Given the description of an element on the screen output the (x, y) to click on. 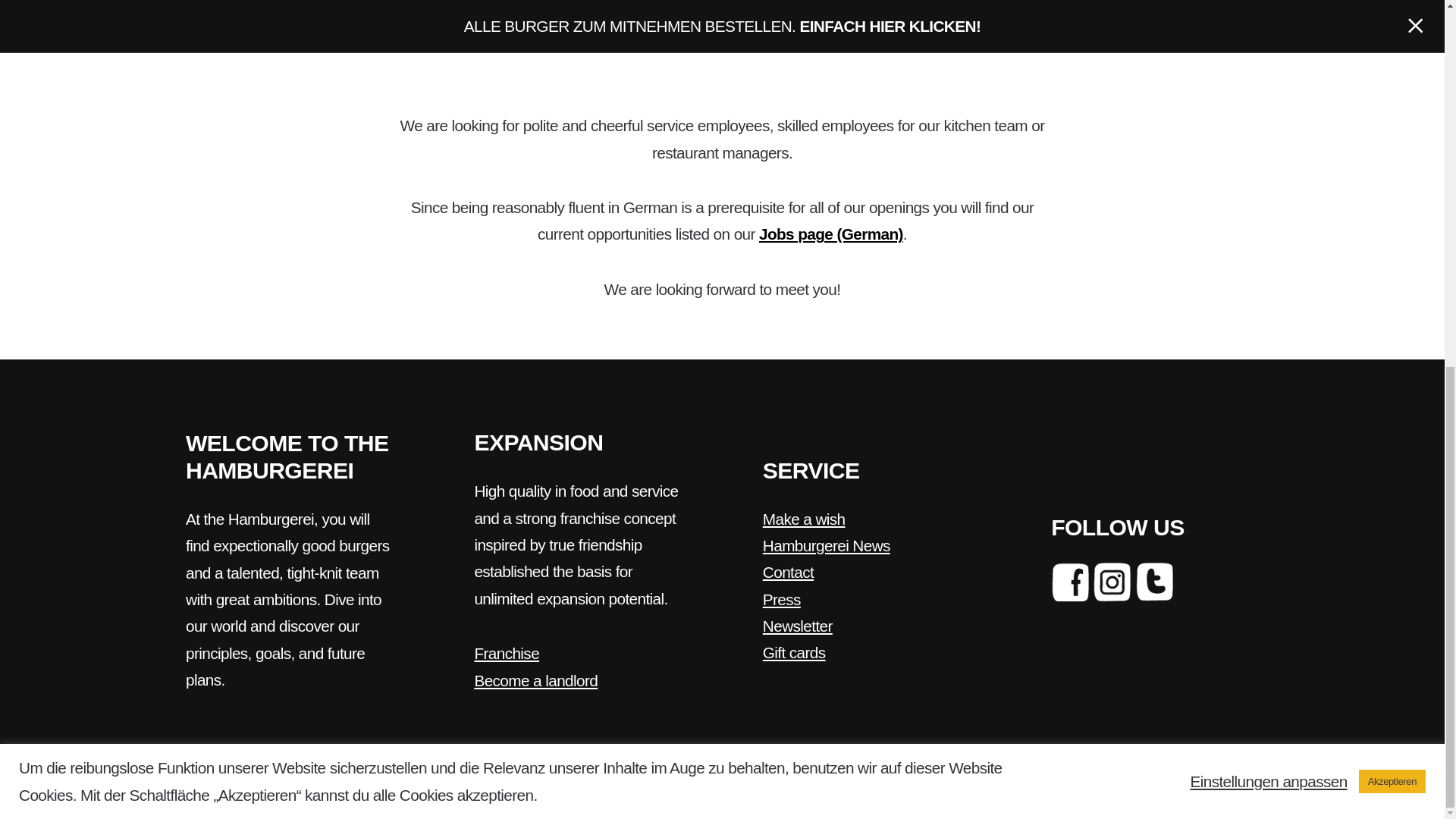
Hamburgerei News (825, 545)
Become a landlord (535, 680)
Franchise (506, 652)
Make a wish (803, 518)
